Given the description of an element on the screen output the (x, y) to click on. 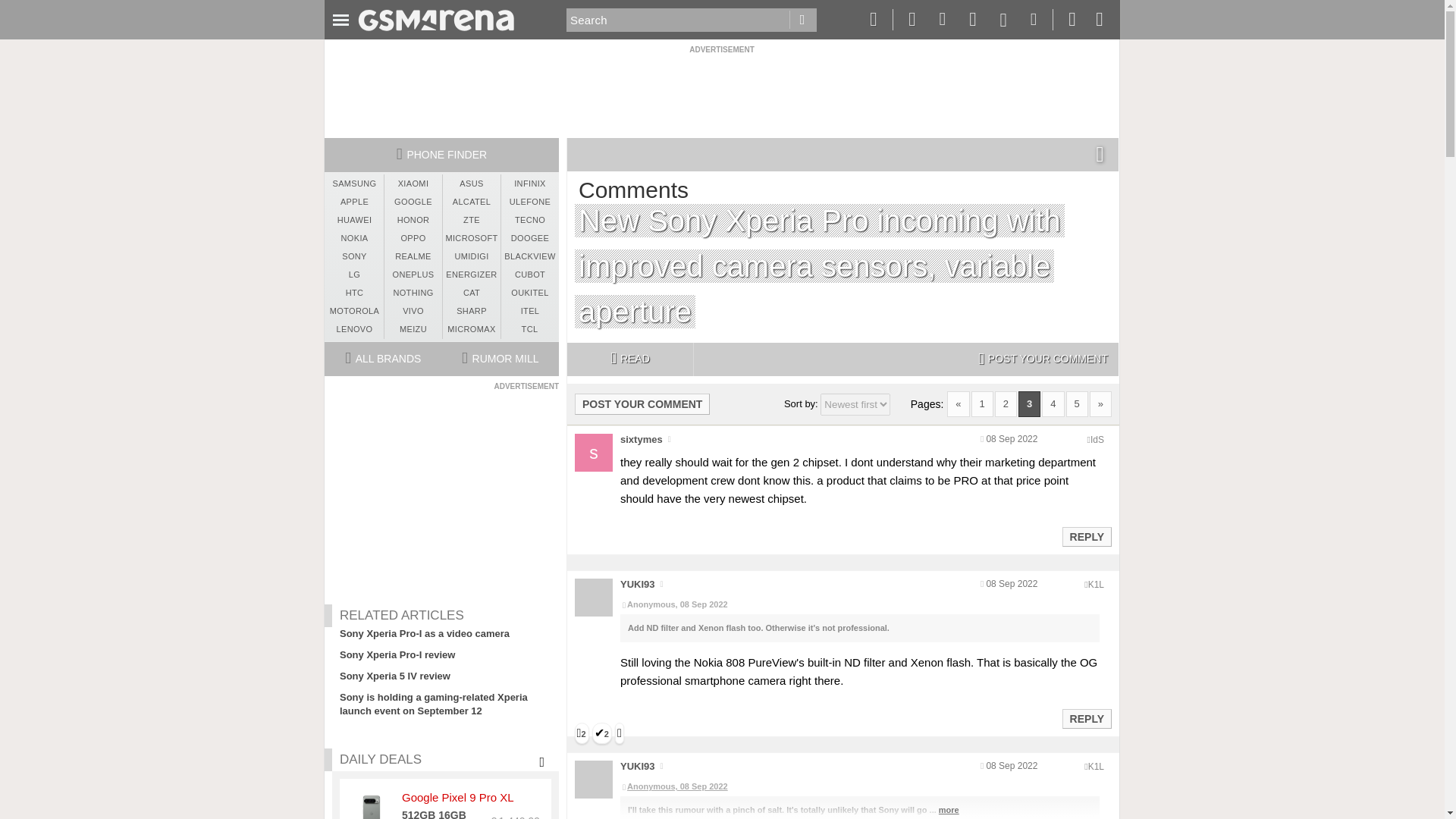
Encoded anonymized location (1096, 439)
Go (802, 19)
Go (802, 19)
Reply to this post (1086, 536)
POST YOUR COMMENT (1042, 359)
Encoded anonymized location (1095, 584)
READ (630, 359)
POST YOUR COMMENT (642, 403)
Reply to this post (1086, 718)
Sort comments by (855, 404)
